Given the description of an element on the screen output the (x, y) to click on. 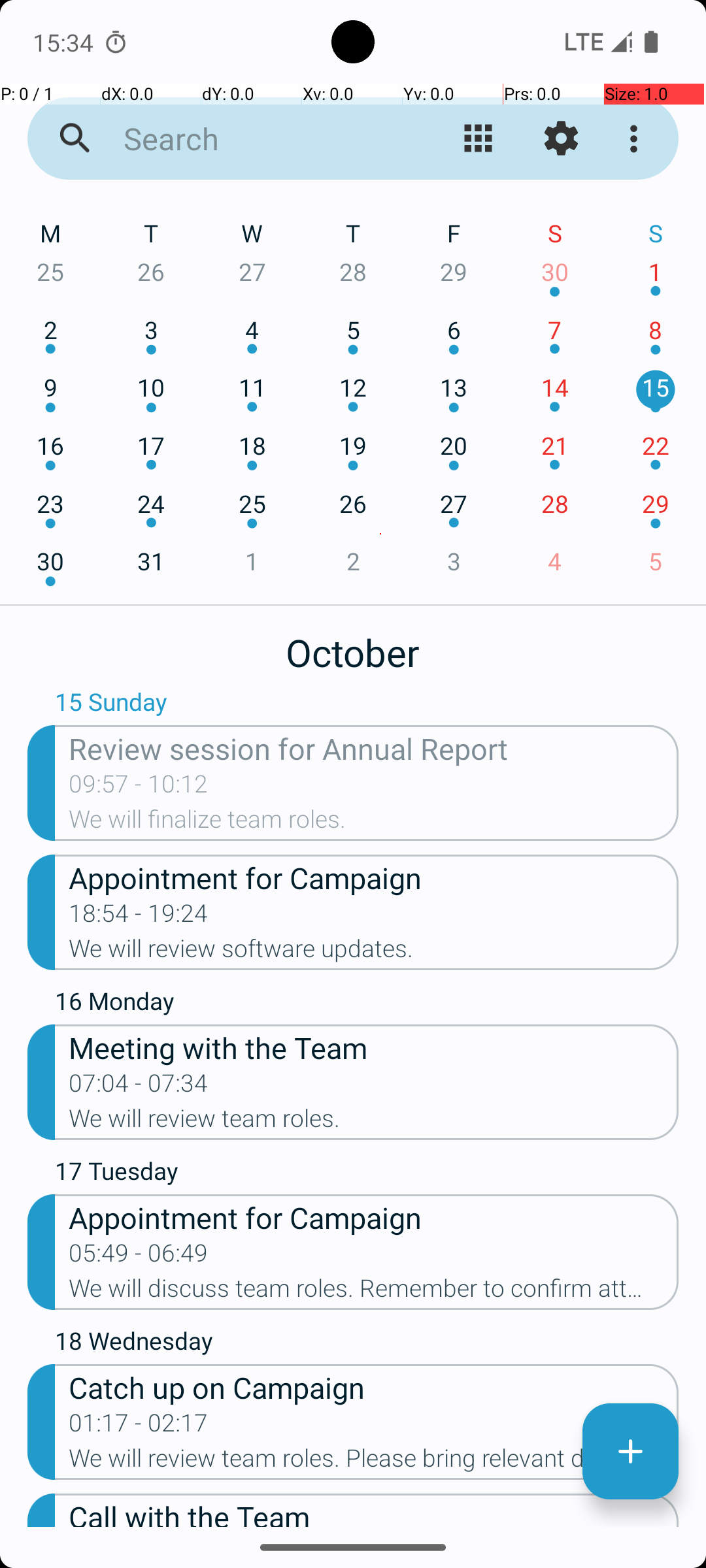
09:57 - 10:12 Element type: android.widget.TextView (137, 787)
We will finalize team roles. Element type: android.widget.TextView (373, 822)
18:54 - 19:24 Element type: android.widget.TextView (137, 916)
We will review software updates. Element type: android.widget.TextView (373, 952)
07:04 - 07:34 Element type: android.widget.TextView (137, 1086)
We will review team roles. Element type: android.widget.TextView (373, 1122)
05:49 - 06:49 Element type: android.widget.TextView (137, 1256)
We will discuss team roles. Remember to confirm attendance. Element type: android.widget.TextView (373, 1291)
01:17 - 02:17 Element type: android.widget.TextView (137, 1426)
We will review team roles. Please bring relevant documents. Element type: android.widget.TextView (373, 1461)
